Given the description of an element on the screen output the (x, y) to click on. 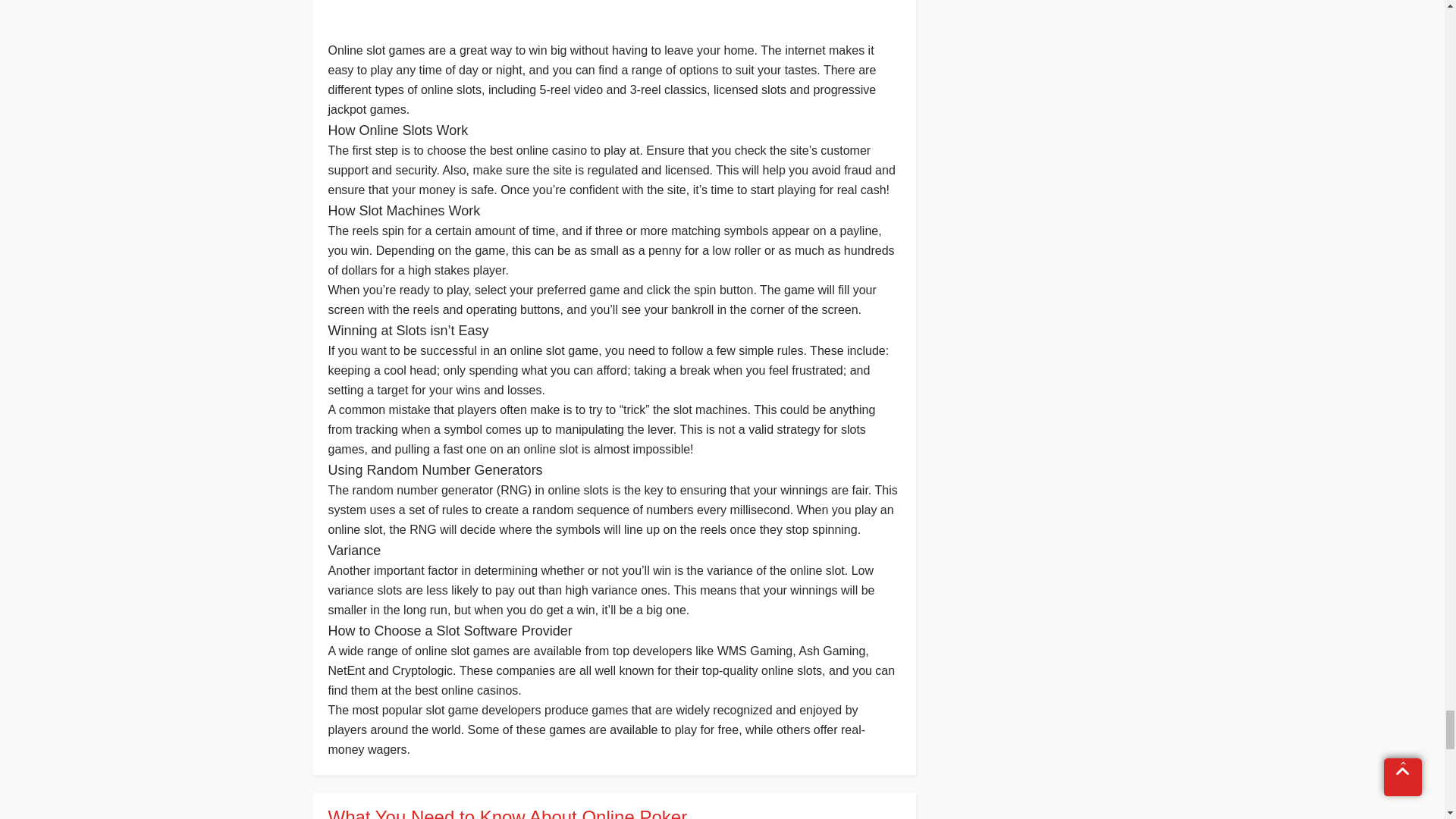
What You Need to Know About Online Poker (613, 813)
